Given the description of an element on the screen output the (x, y) to click on. 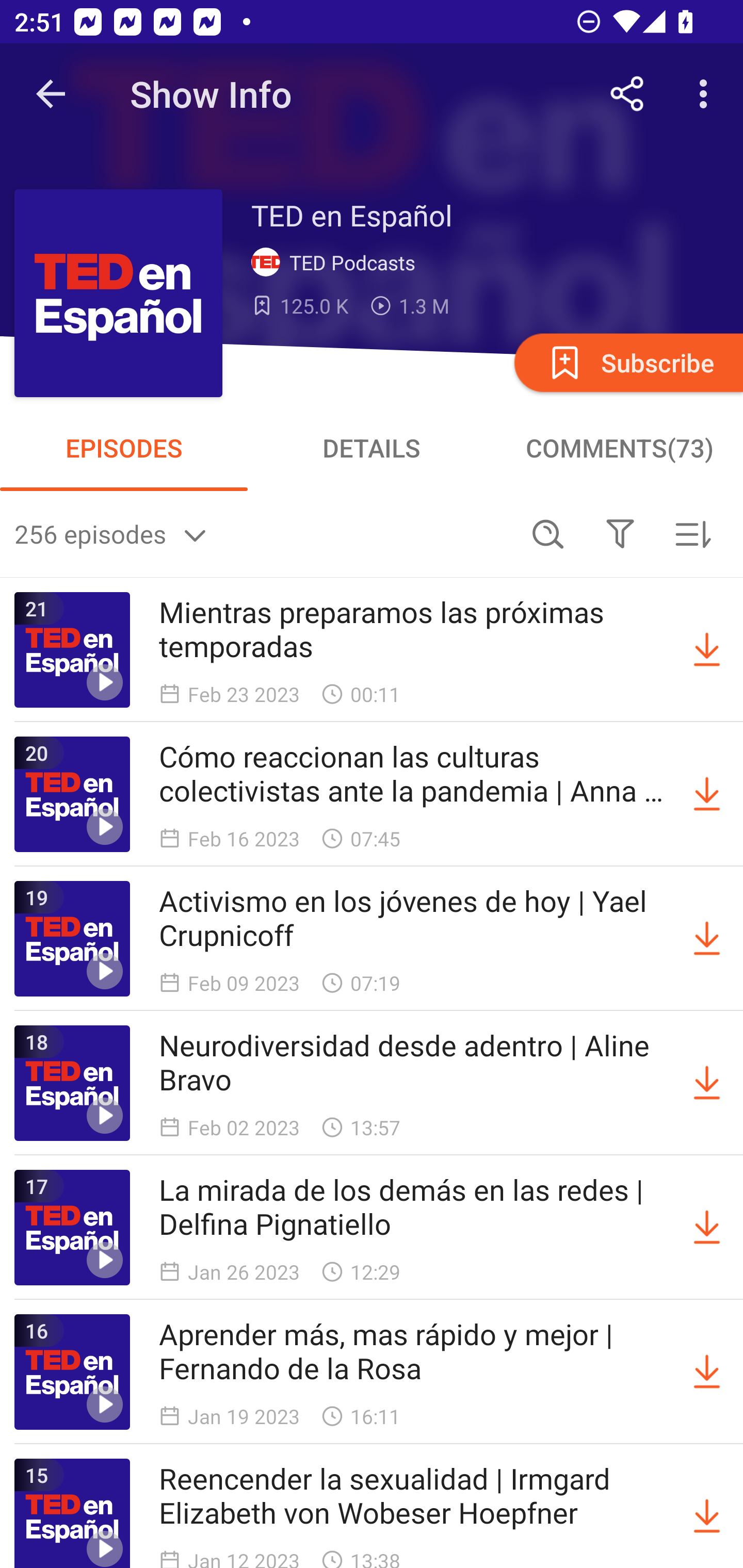
Navigate up (50, 93)
Share (626, 93)
More options (706, 93)
TED Podcasts (337, 262)
Subscribe (627, 361)
EPISODES (123, 447)
DETAILS (371, 447)
COMMENTS(73) (619, 447)
256 episodes  (262, 533)
 Search (547, 533)
 (619, 533)
 Sorted by newest first (692, 533)
Download (706, 649)
Download (706, 793)
Download (706, 939)
Download (706, 1083)
Download (706, 1227)
Download (706, 1371)
Download (706, 1513)
